Given the description of an element on the screen output the (x, y) to click on. 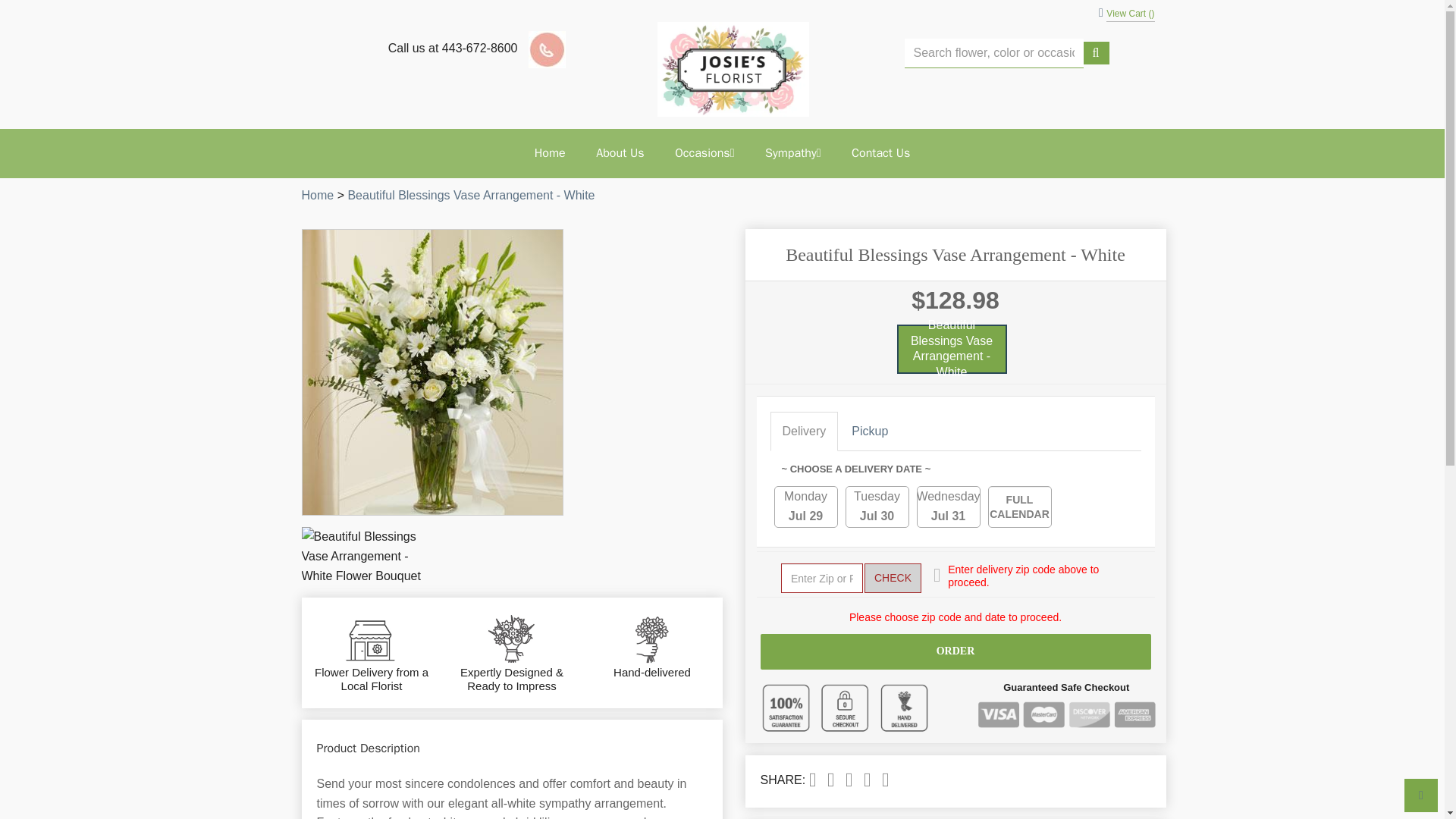
About Us (620, 152)
Occasions (704, 152)
Beautiful Blessings Vase Arrangement - White (470, 195)
Contact Us (880, 152)
Home (550, 152)
Beautiful (470, 195)
Sympathy (792, 152)
Home (317, 195)
Pickup (869, 431)
Home (317, 195)
Delivery (804, 431)
